Given the description of an element on the screen output the (x, y) to click on. 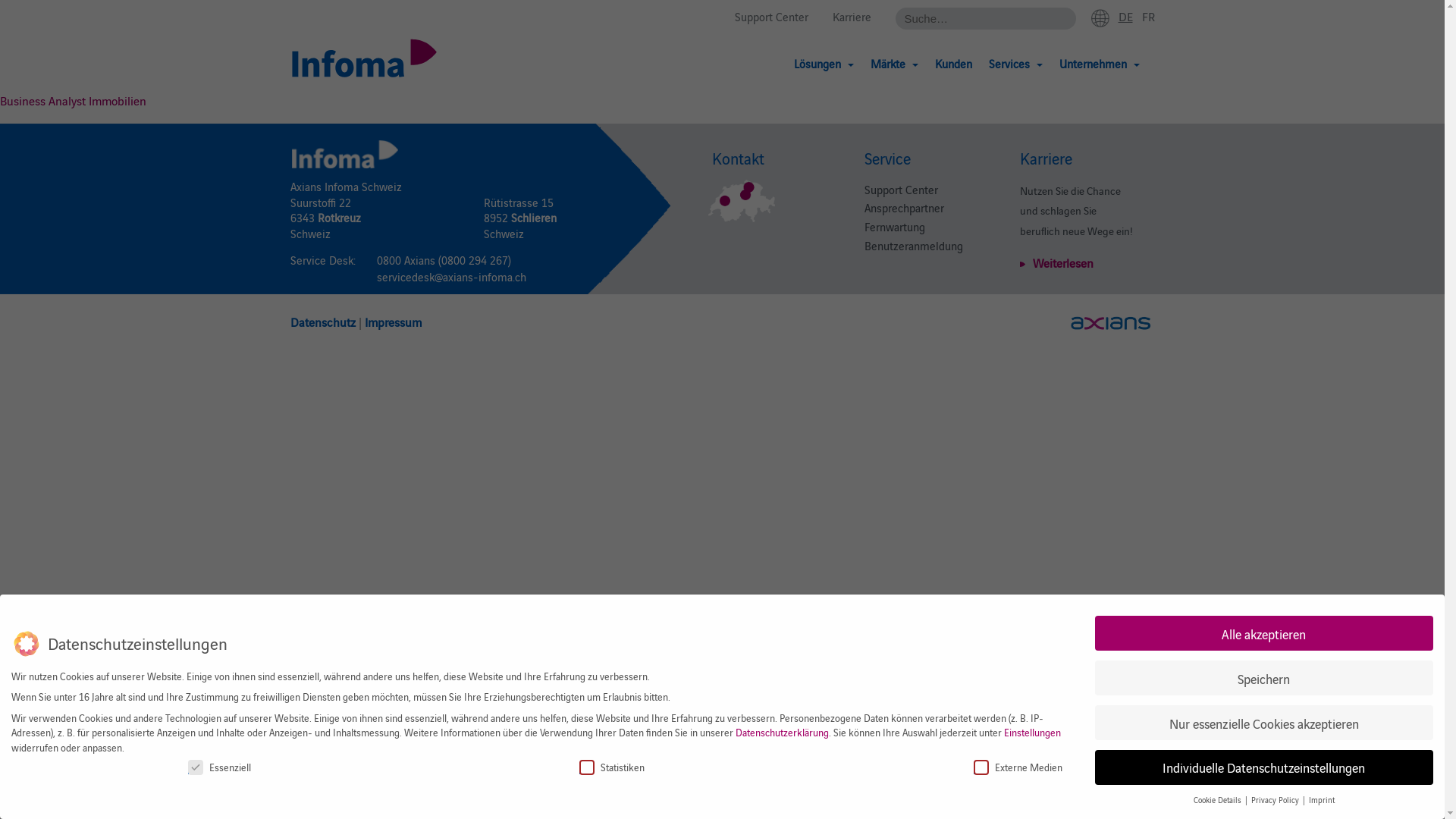
Impressum Element type: text (392, 321)
Cookie Details Element type: text (1218, 799)
Privacy Policy Element type: text (1276, 799)
Speichern Element type: text (1264, 677)
Support Center Element type: text (901, 189)
Einstellungen Element type: text (1032, 731)
Individuelle Datenschutzeinstellungen Element type: text (1264, 766)
Ansprechpartner Element type: text (904, 207)
FR Element type: text (1148, 15)
Weiterlesen Element type: text (1056, 262)
Alle akzeptieren Element type: text (1264, 632)
Kunden Element type: text (952, 63)
servicedesk@axians-infoma.ch Element type: text (450, 276)
Benutzeranmeldung Element type: text (913, 245)
Axians Networks & Solutions GmbH Element type: hover (1110, 322)
Business Analyst Immobilien Element type: text (73, 99)
Datenschutz Element type: text (321, 321)
Fernwartung Element type: text (894, 226)
Imprint Element type: text (1321, 799)
Support Center Element type: text (770, 16)
Karriere Element type: text (851, 16)
OK, einverstanden Element type: text (1286, 767)
Nur essenzielle Cookies akzeptieren Element type: text (1264, 722)
